Given the description of an element on the screen output the (x, y) to click on. 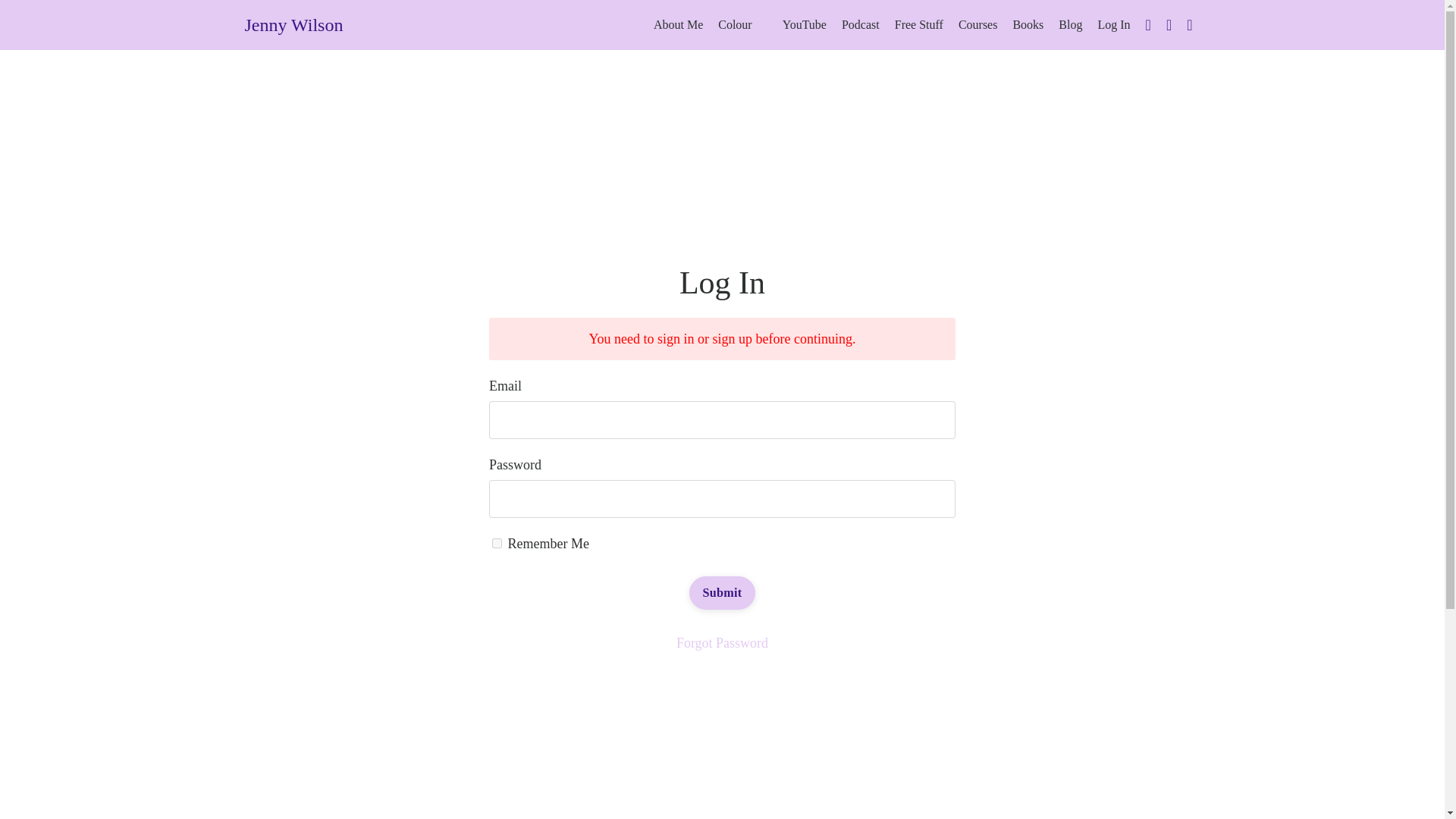
Colour (734, 25)
YouTube (805, 25)
About Me (678, 25)
Jenny Wilson (293, 24)
Books (1027, 25)
Forgot Password (722, 642)
Podcast (860, 25)
Log In (1113, 24)
Free Stuff (919, 25)
Courses (977, 25)
Blog (1069, 25)
Submit (721, 592)
1 (497, 542)
